Given the description of an element on the screen output the (x, y) to click on. 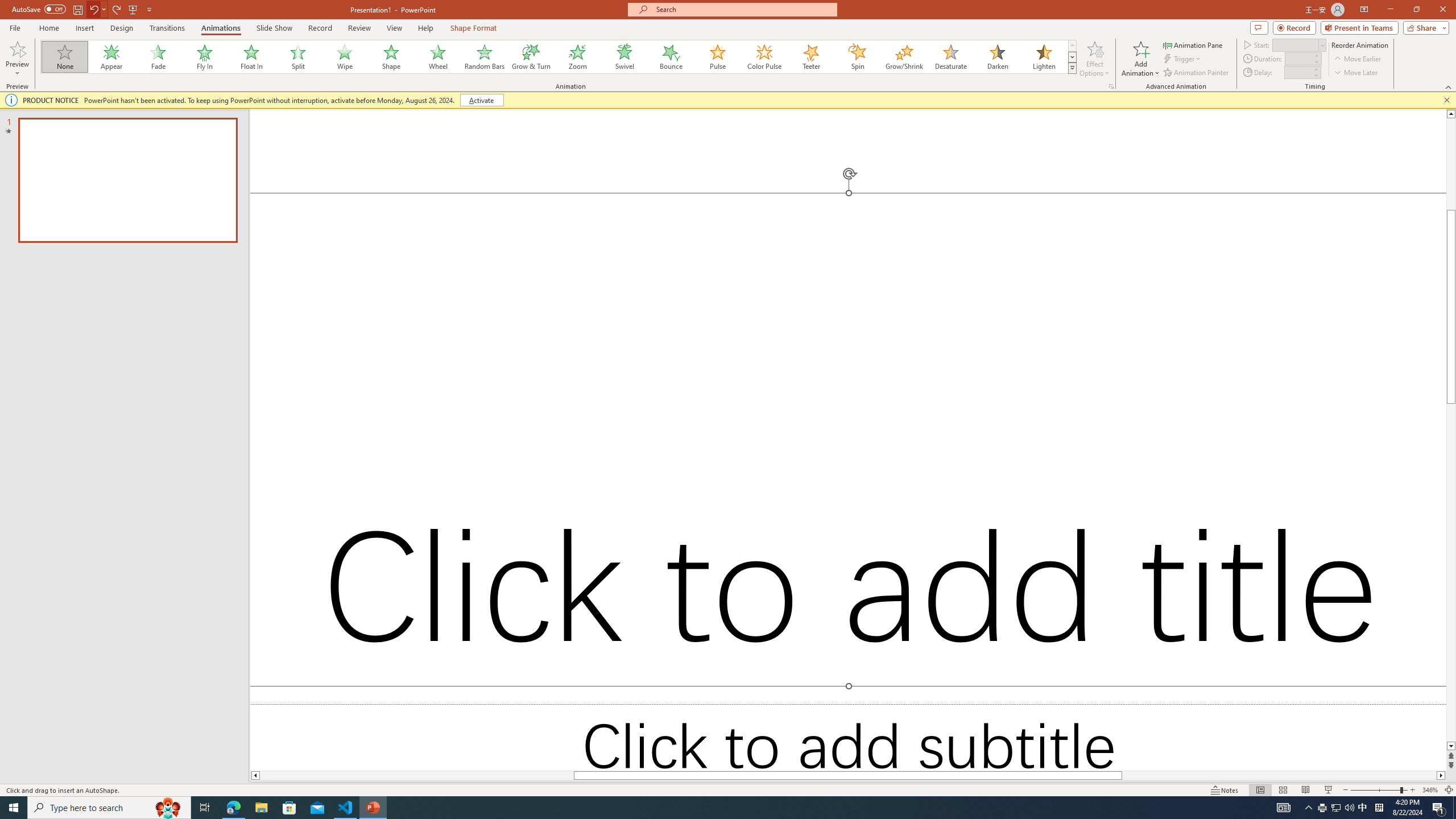
Move Later (1355, 72)
Bounce (670, 56)
